Given the description of an element on the screen output the (x, y) to click on. 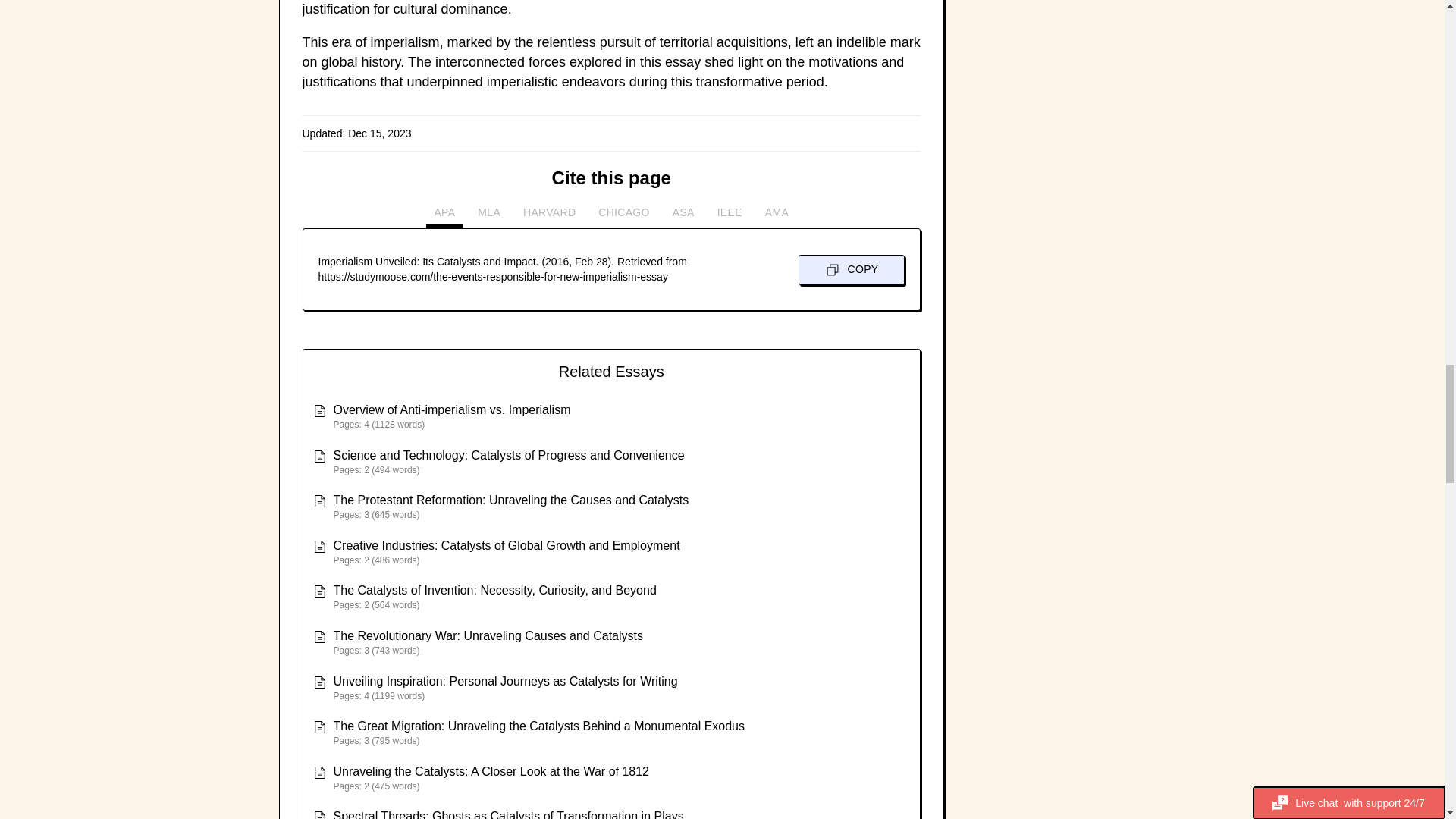
MLA (489, 216)
HARVARD (549, 216)
APA (444, 216)
